Given the description of an element on the screen output the (x, y) to click on. 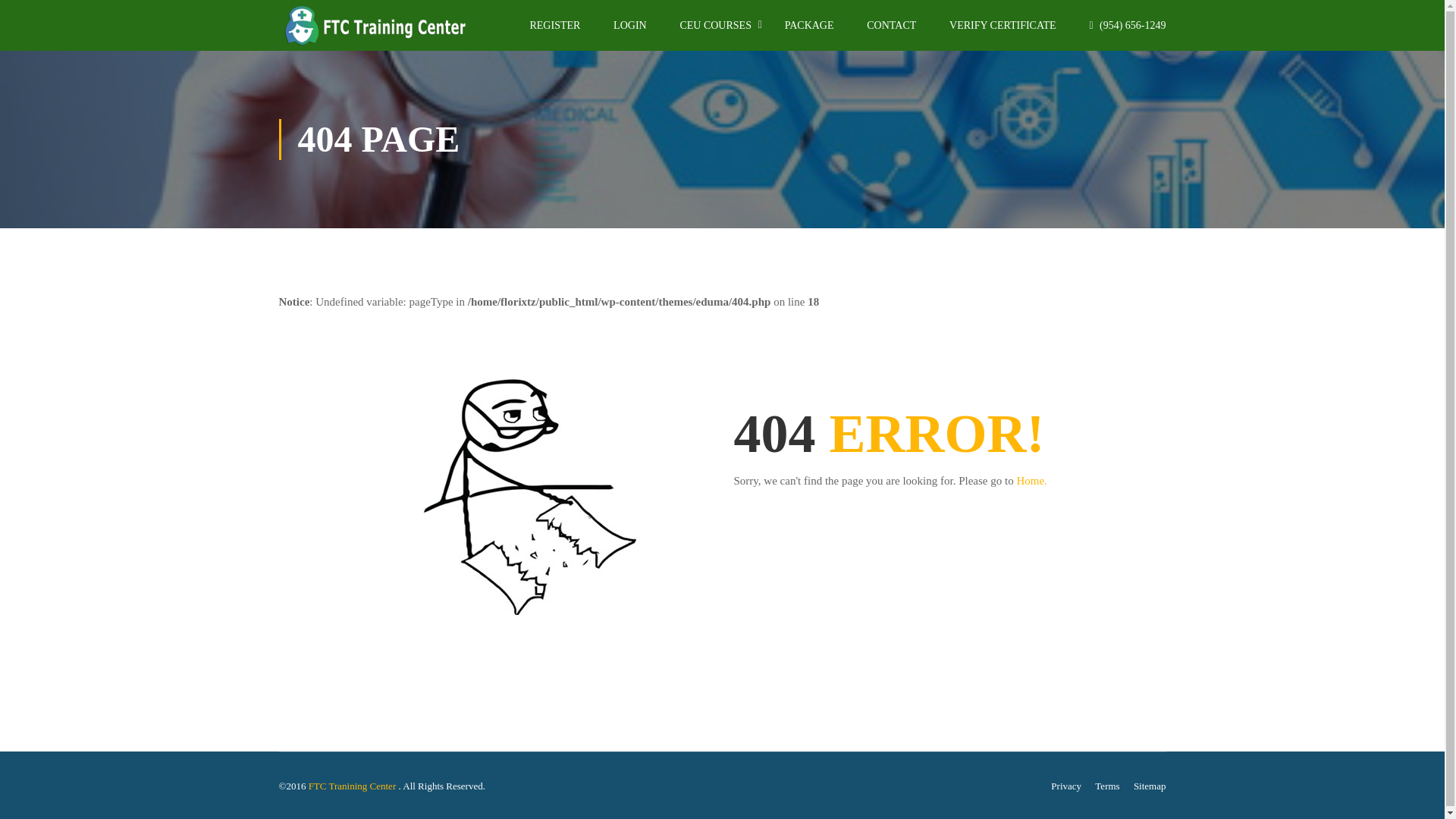
Sitemap (1150, 785)
Terms (1106, 785)
LOGIN (630, 32)
REGISTER (554, 32)
FTC Tranining Center (353, 785)
VERIFY CERTIFICATE (1002, 32)
PACKAGE (809, 32)
CONTACT (891, 32)
CEU COURSES (715, 32)
Home. (1031, 480)
Privacy (1066, 785)
